Given the description of an element on the screen output the (x, y) to click on. 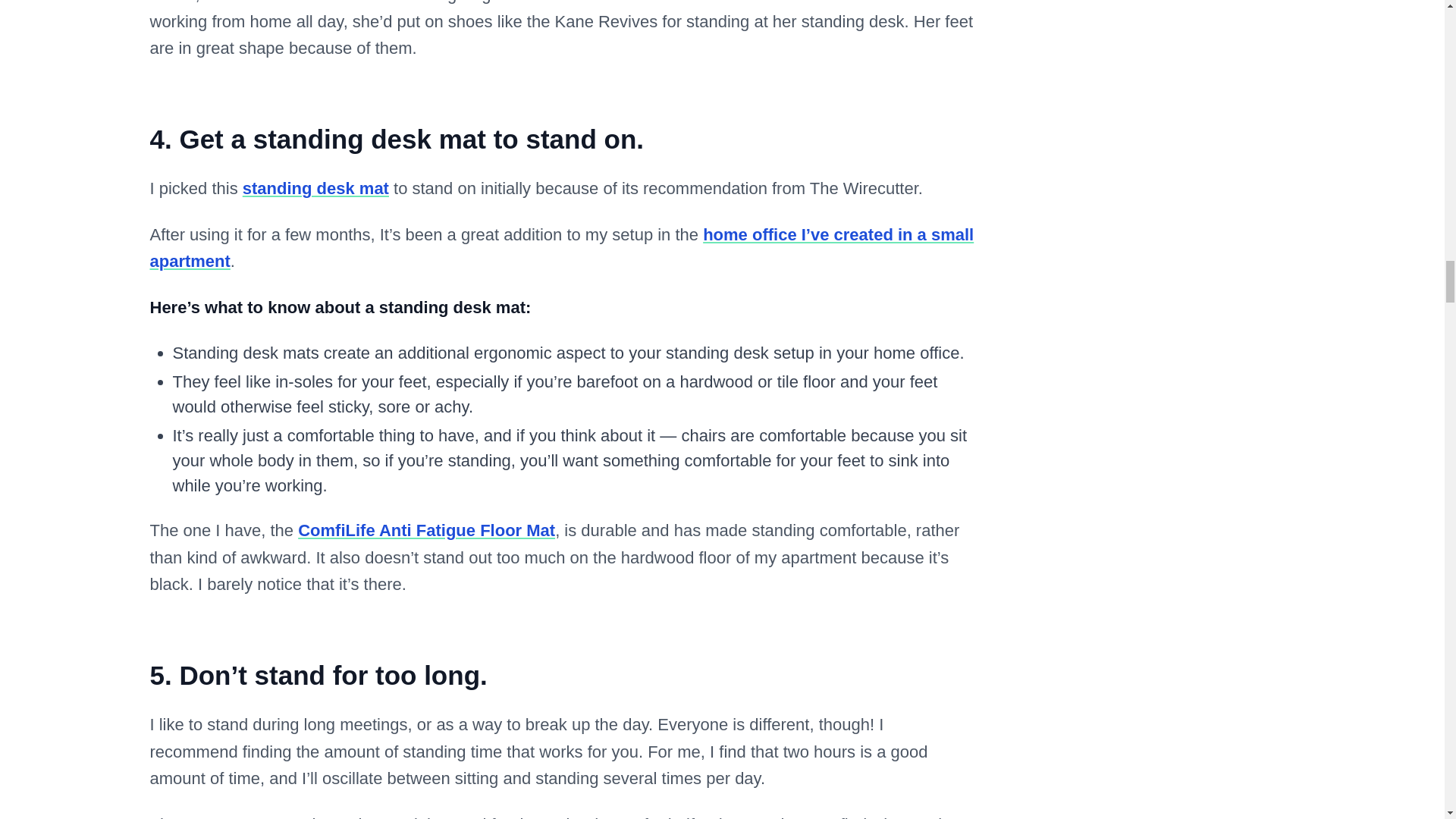
ComfiLife Anti Fatigue Floor Mat (426, 529)
standing desk mat (315, 188)
